Given the description of an element on the screen output the (x, y) to click on. 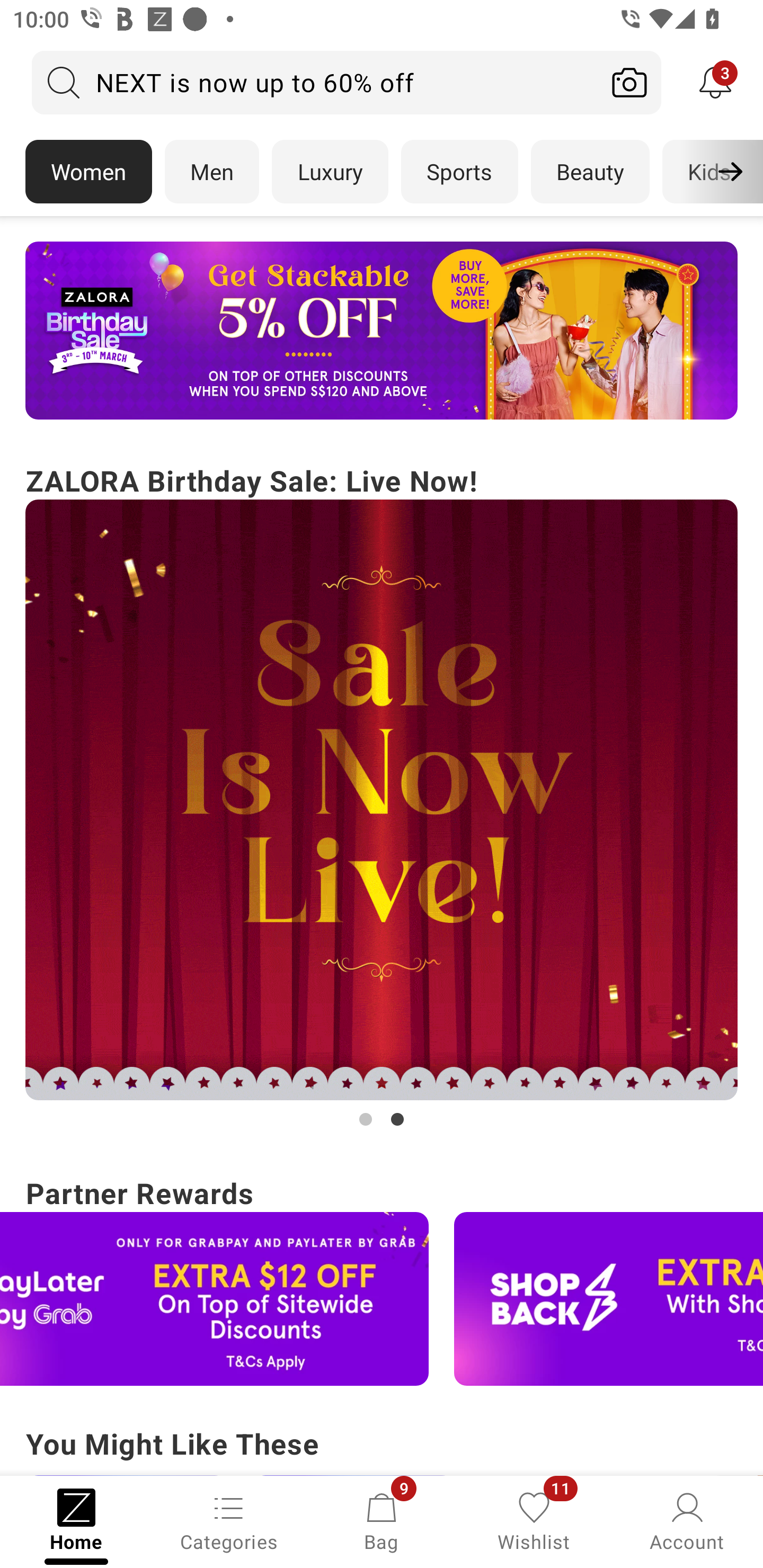
NEXT is now up to 60% off (314, 82)
Women (88, 171)
Men (211, 171)
Luxury (329, 171)
Sports (459, 171)
Beauty (590, 171)
Campaign banner (381, 330)
ZALORA Birthday Sale: Live Now! Campaign banner (381, 794)
Campaign banner (381, 800)
Partner Rewards Campaign banner Campaign banner (381, 1277)
Campaign banner (214, 1299)
Campaign banner (608, 1299)
Categories (228, 1519)
Bag, 9 new notifications Bag (381, 1519)
Wishlist, 11 new notifications Wishlist (533, 1519)
Account (686, 1519)
